Given the description of an element on the screen output the (x, y) to click on. 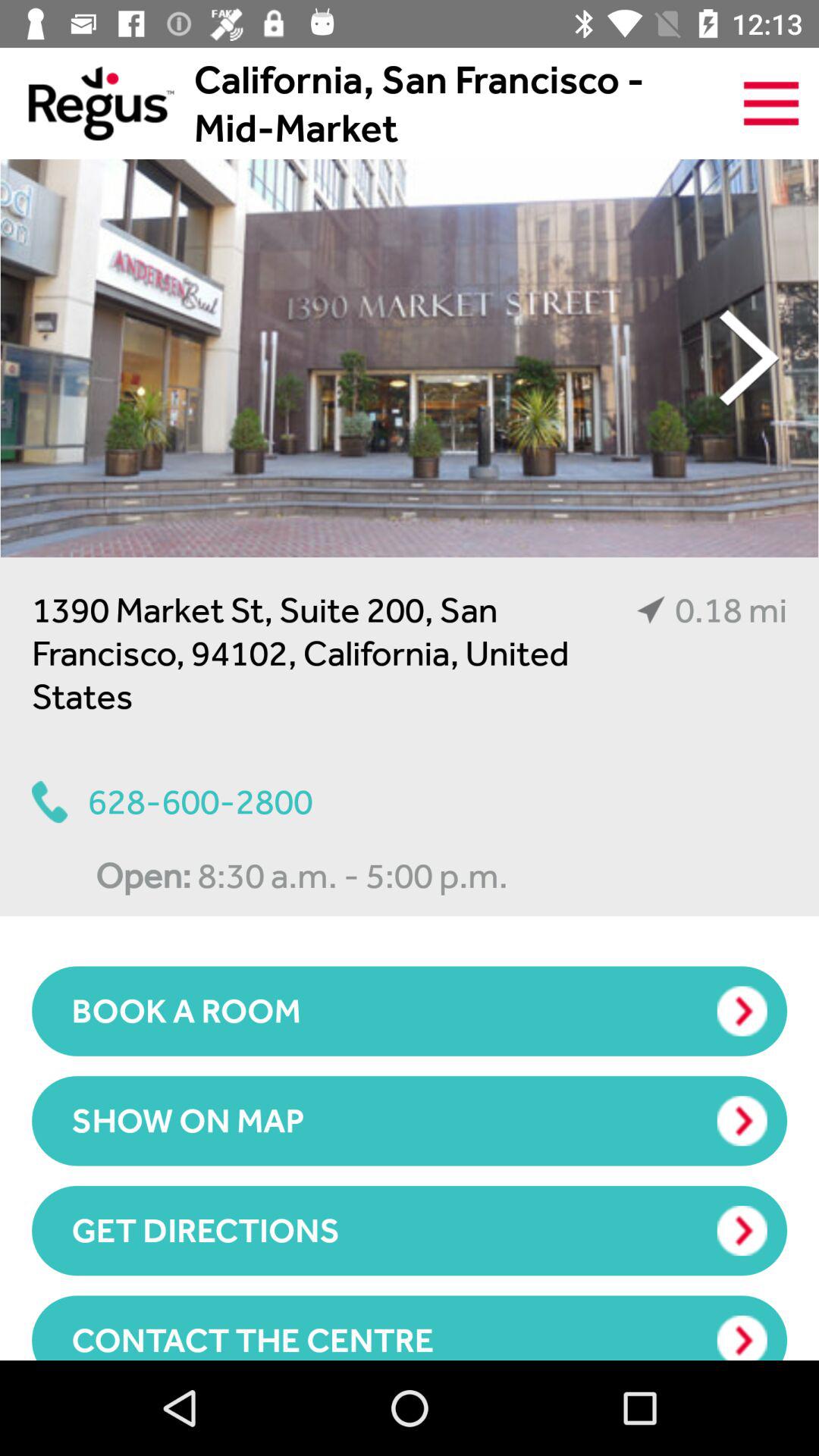
swipe until the book a room icon (409, 1011)
